Given the description of an element on the screen output the (x, y) to click on. 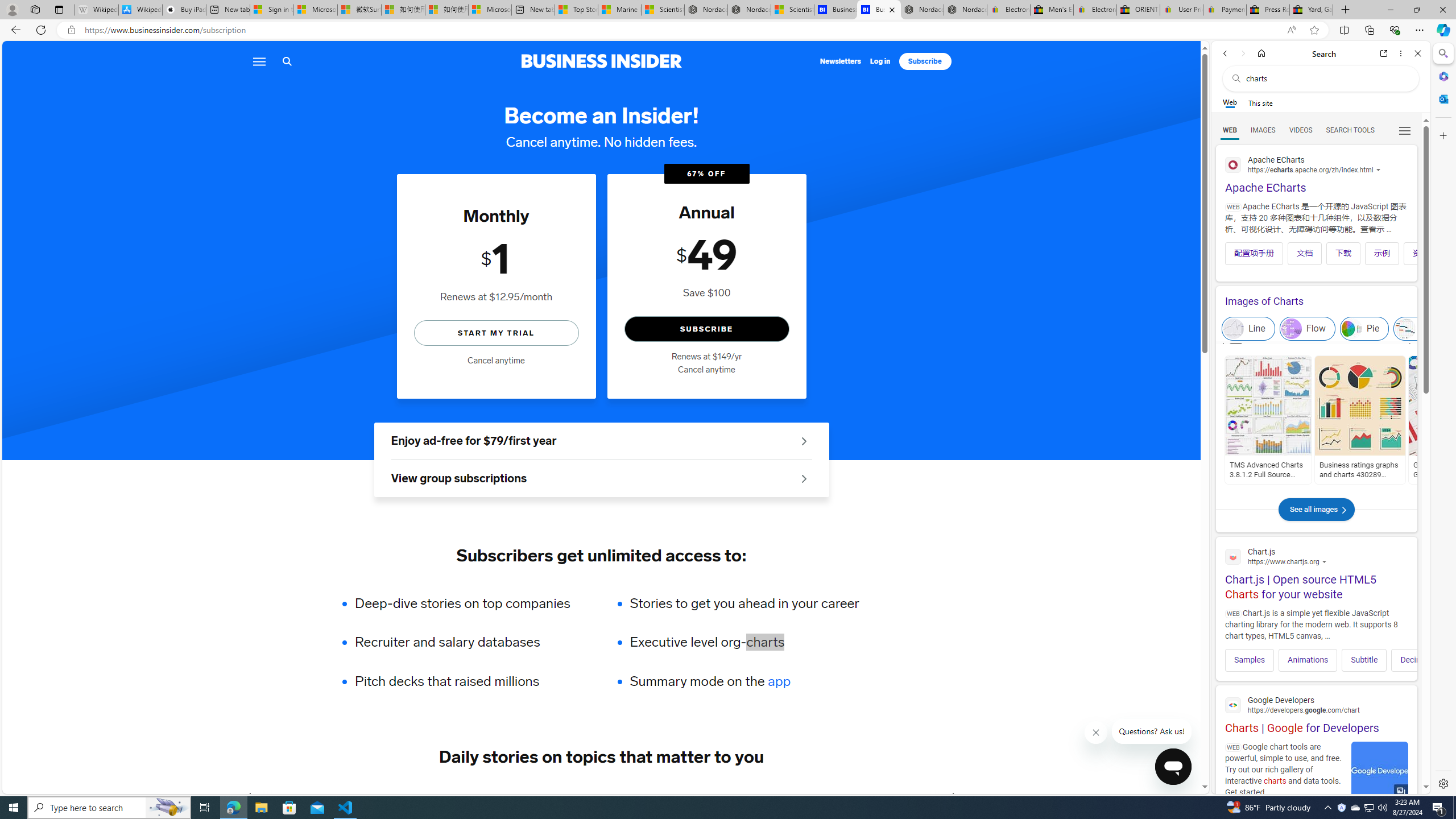
Pie (1364, 328)
Microsoft Services Agreement (315, 9)
WEB   (1230, 130)
Animations (1307, 660)
Web scope (1230, 102)
Forward (1242, 53)
Click to scroll right (1400, 660)
Search Filter, VIDEOS (1300, 129)
